Given the description of an element on the screen output the (x, y) to click on. 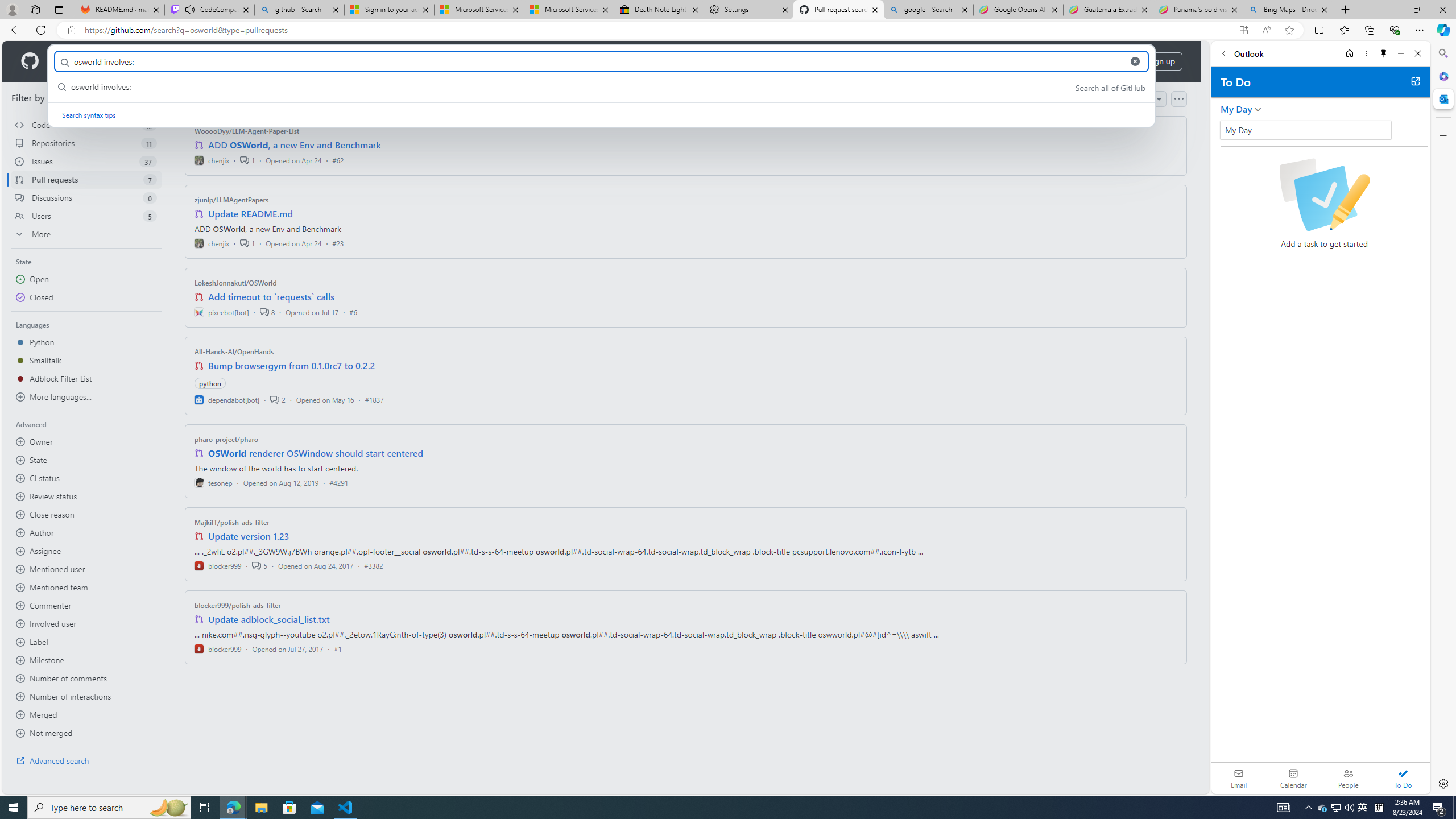
Pricing (368, 60)
#23 (337, 242)
Mute tab (189, 8)
pharo-project/pharo (226, 438)
#1 (337, 648)
#3382 (373, 565)
Advanced search (86, 760)
blocker999 (218, 648)
Advanced search (86, 760)
